Given the description of an element on the screen output the (x, y) to click on. 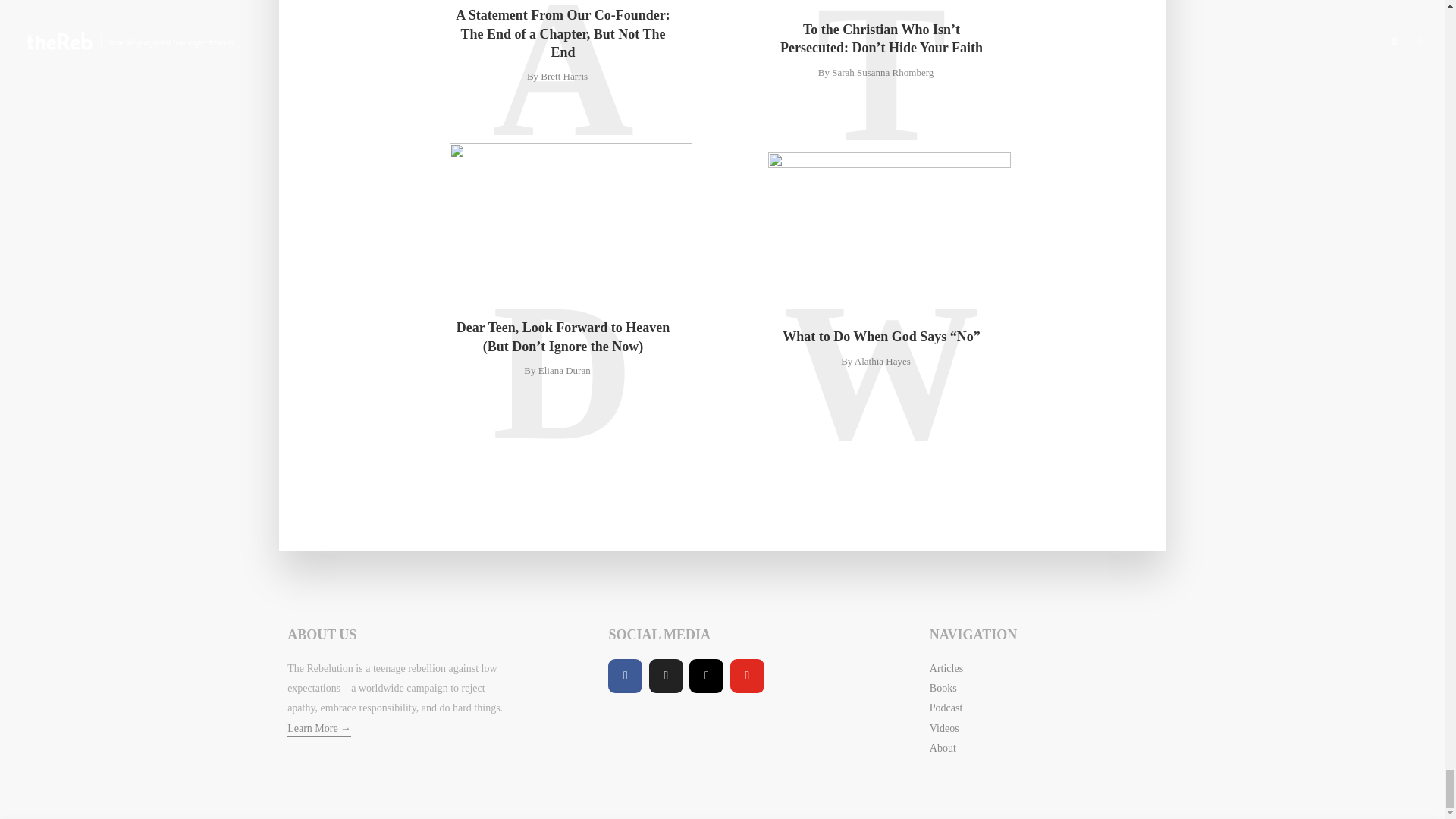
YouTube (747, 675)
Facebook (625, 675)
Instagram (705, 675)
